Given the description of an element on the screen output the (x, y) to click on. 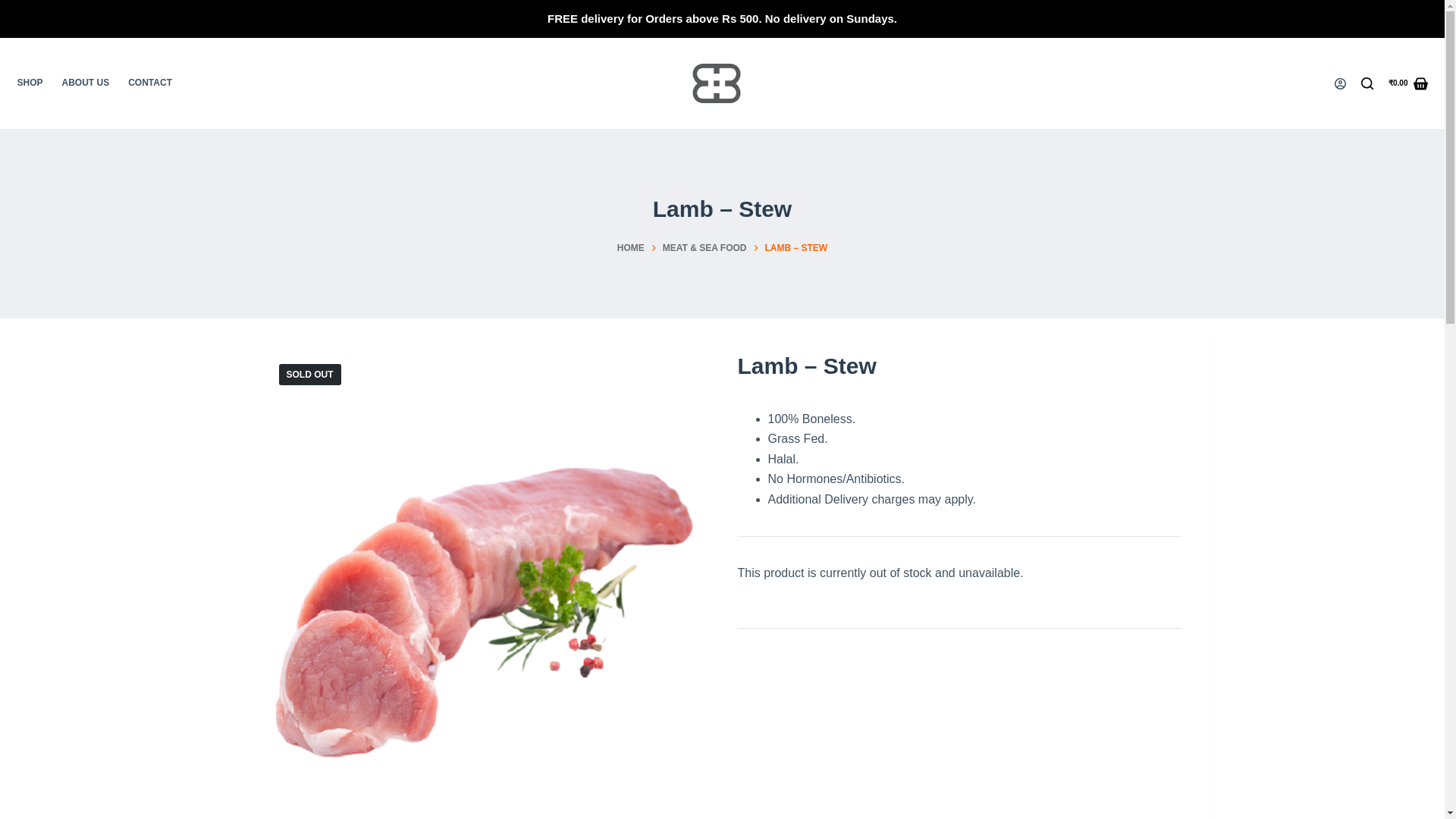
HOME (631, 248)
Skip to content (15, 7)
